Given the description of an element on the screen output the (x, y) to click on. 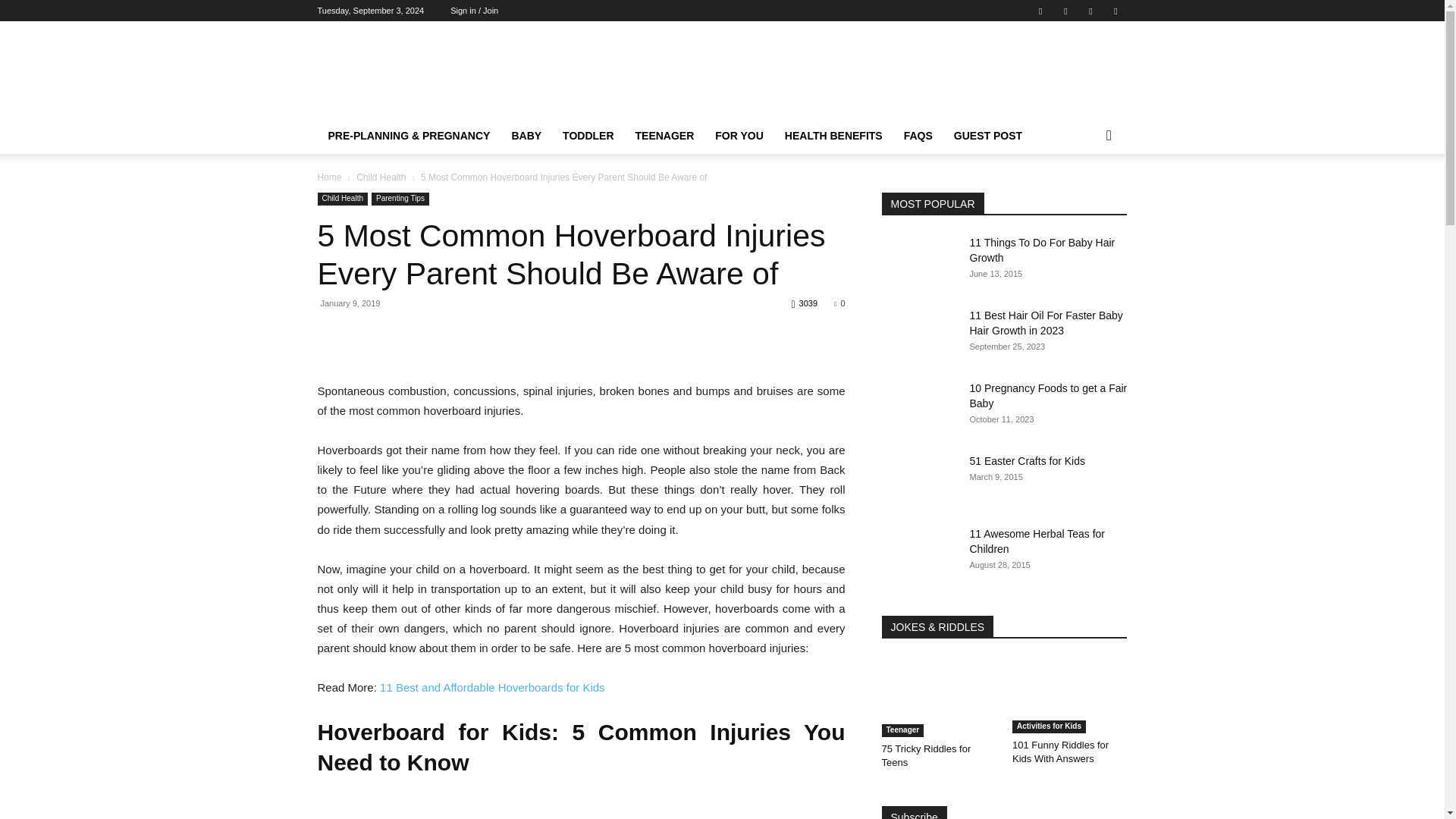
View all posts in Child Health (381, 176)
BABY (525, 135)
Twitter (1090, 10)
Facebook (1040, 10)
FOR YOU (739, 135)
Child Health (381, 176)
HEALTH BENEFITS (833, 135)
TODDLER (587, 135)
FAQS (918, 135)
Pinterest (1065, 10)
